Given the description of an element on the screen output the (x, y) to click on. 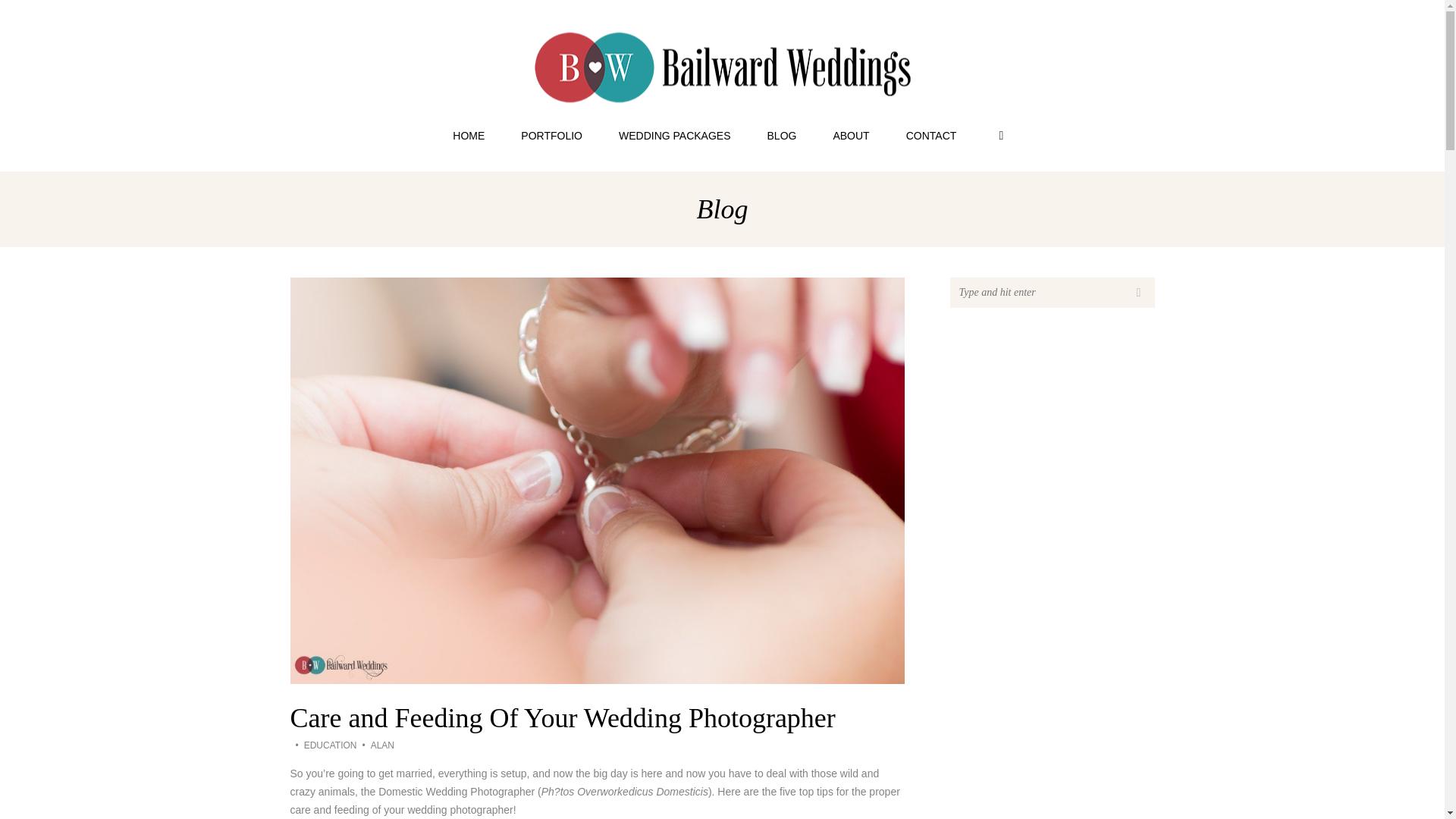
WEDDING PACKAGES (674, 135)
Post categories (322, 745)
CONTACT (931, 135)
PORTFOLIO (550, 135)
BLOG (782, 135)
Care and Feeding Of Your Wedding Photographer (561, 717)
ABOUT (849, 135)
Post author (375, 745)
EDUCATION (330, 745)
HOME (467, 135)
